Given the description of an element on the screen output the (x, y) to click on. 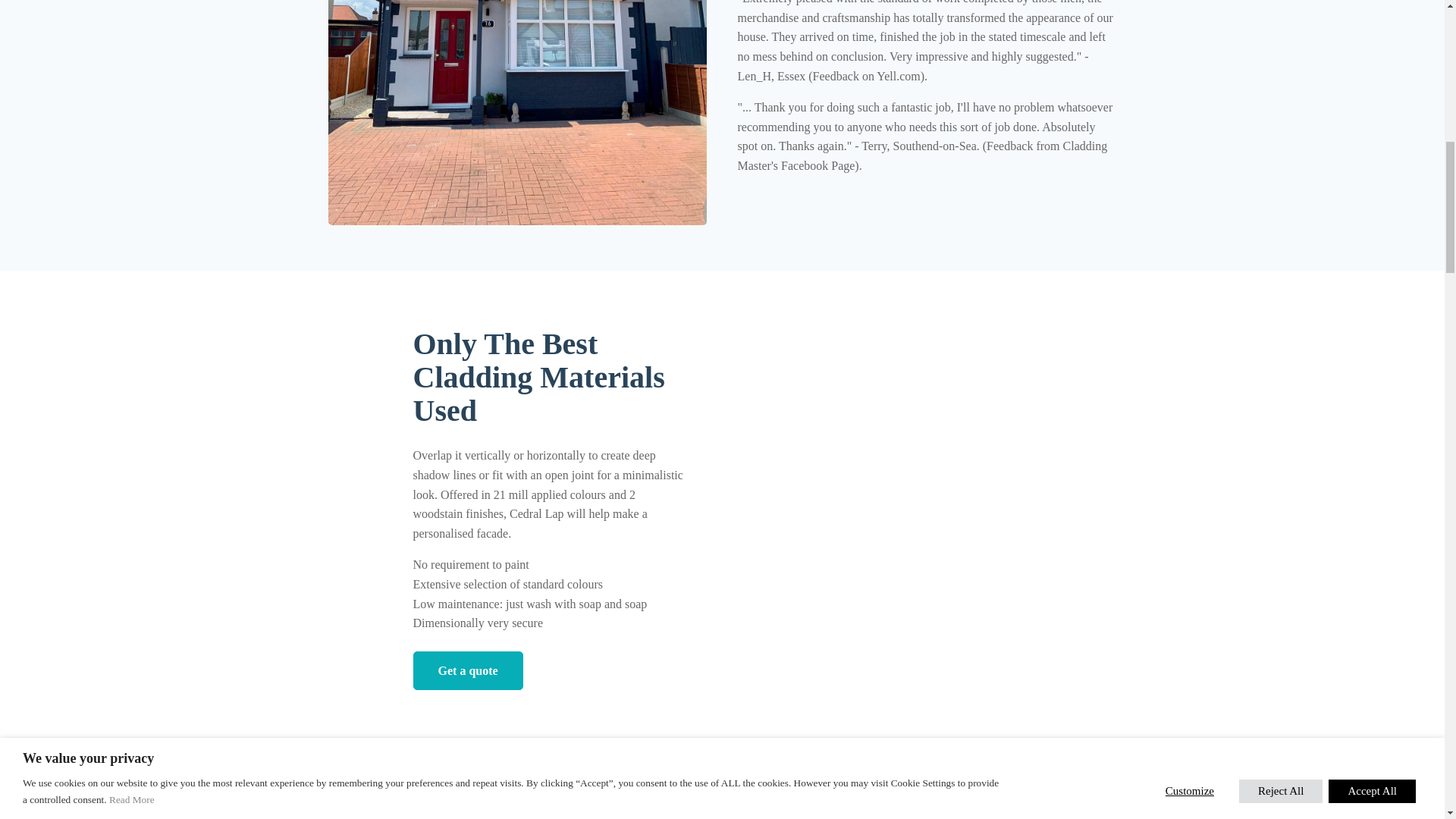
Get a quote (467, 671)
